Given the description of an element on the screen output the (x, y) to click on. 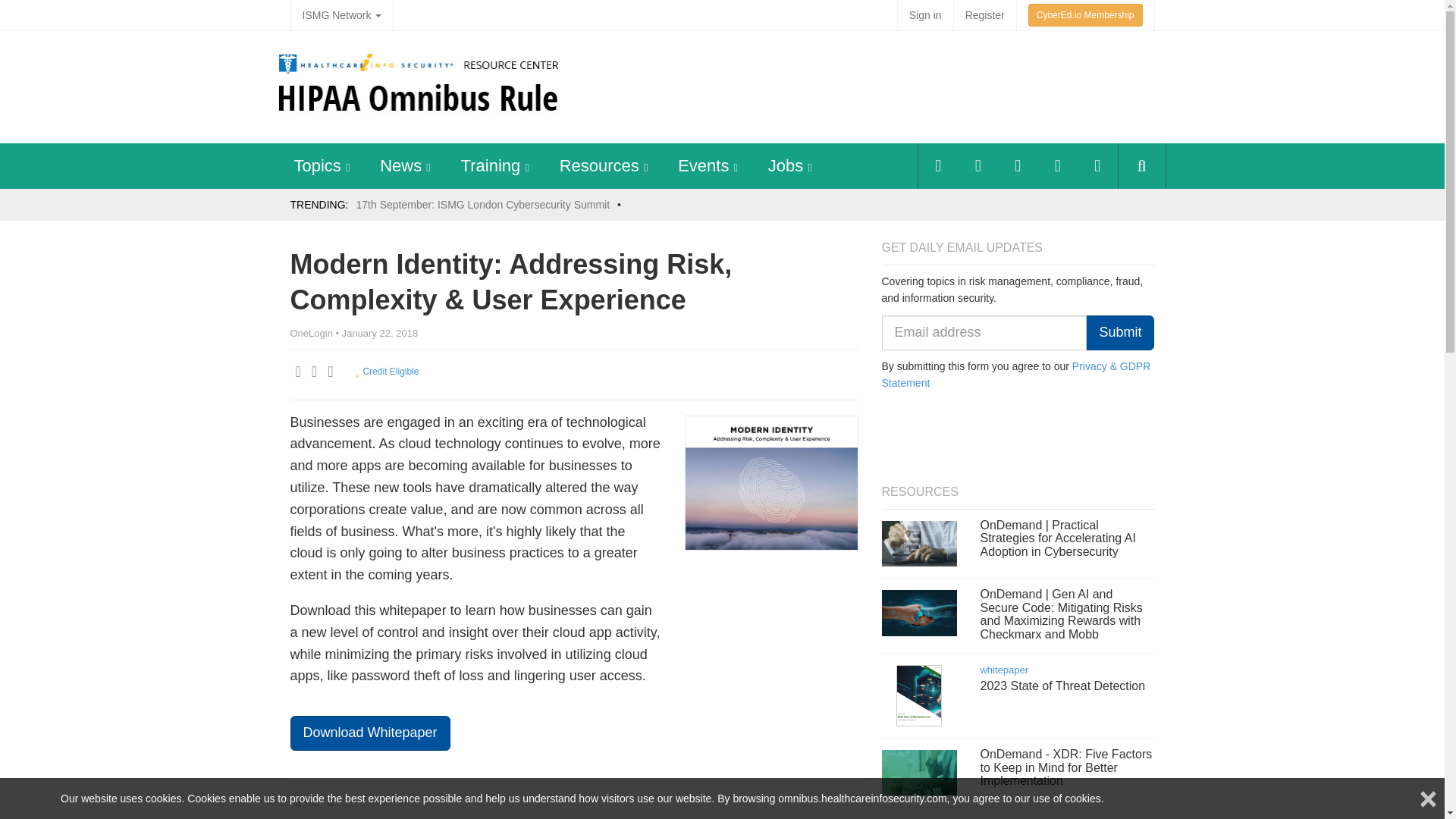
Register (984, 15)
Topics (317, 165)
Sign in (925, 15)
ISMG Network (341, 15)
News (401, 165)
CyberEd.io Membership (1084, 15)
